Given the description of an element on the screen output the (x, y) to click on. 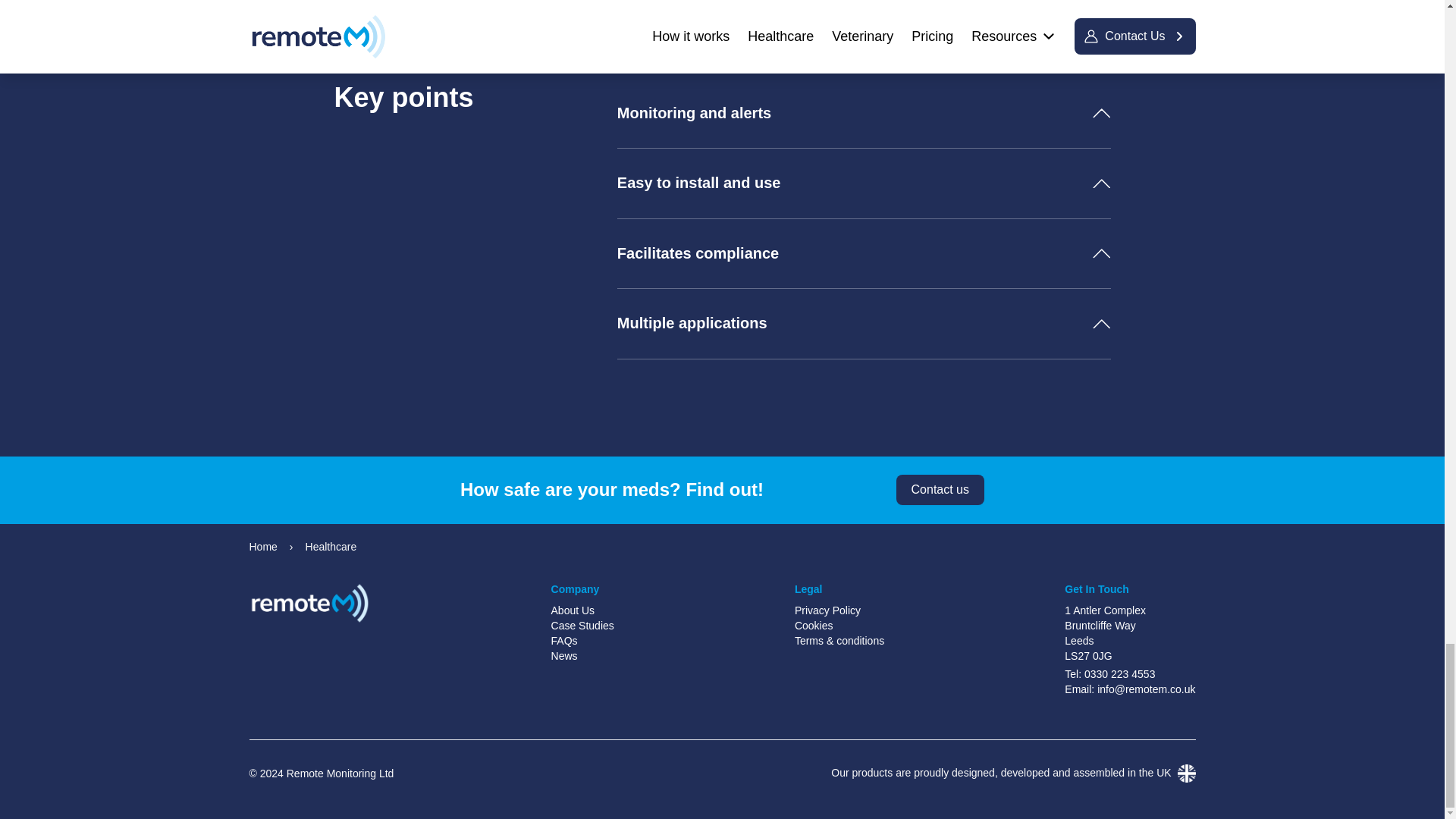
FAQs (582, 640)
Facilitates compliance (863, 254)
Easy to install and use (863, 183)
Contact us (940, 490)
Case Studies (582, 625)
Cookies (838, 625)
0330 223 4553 (1119, 674)
About Us (582, 610)
Healthcare (330, 546)
Monitoring and alerts (863, 113)
News (582, 655)
Multiple applications (863, 323)
Privacy Policy (838, 610)
Home (262, 546)
